Given the description of an element on the screen output the (x, y) to click on. 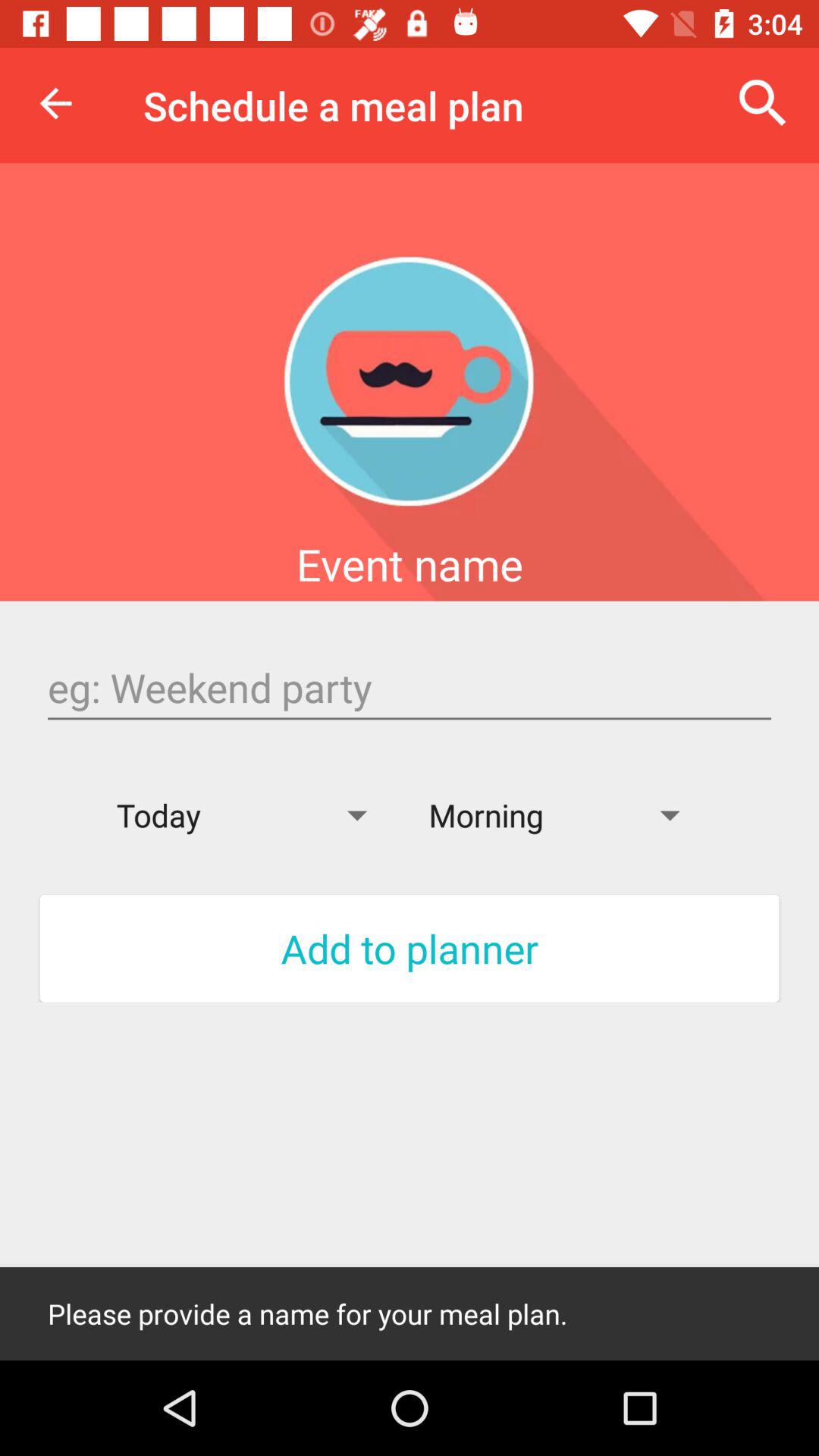
type the next (409, 687)
